Given the description of an element on the screen output the (x, y) to click on. 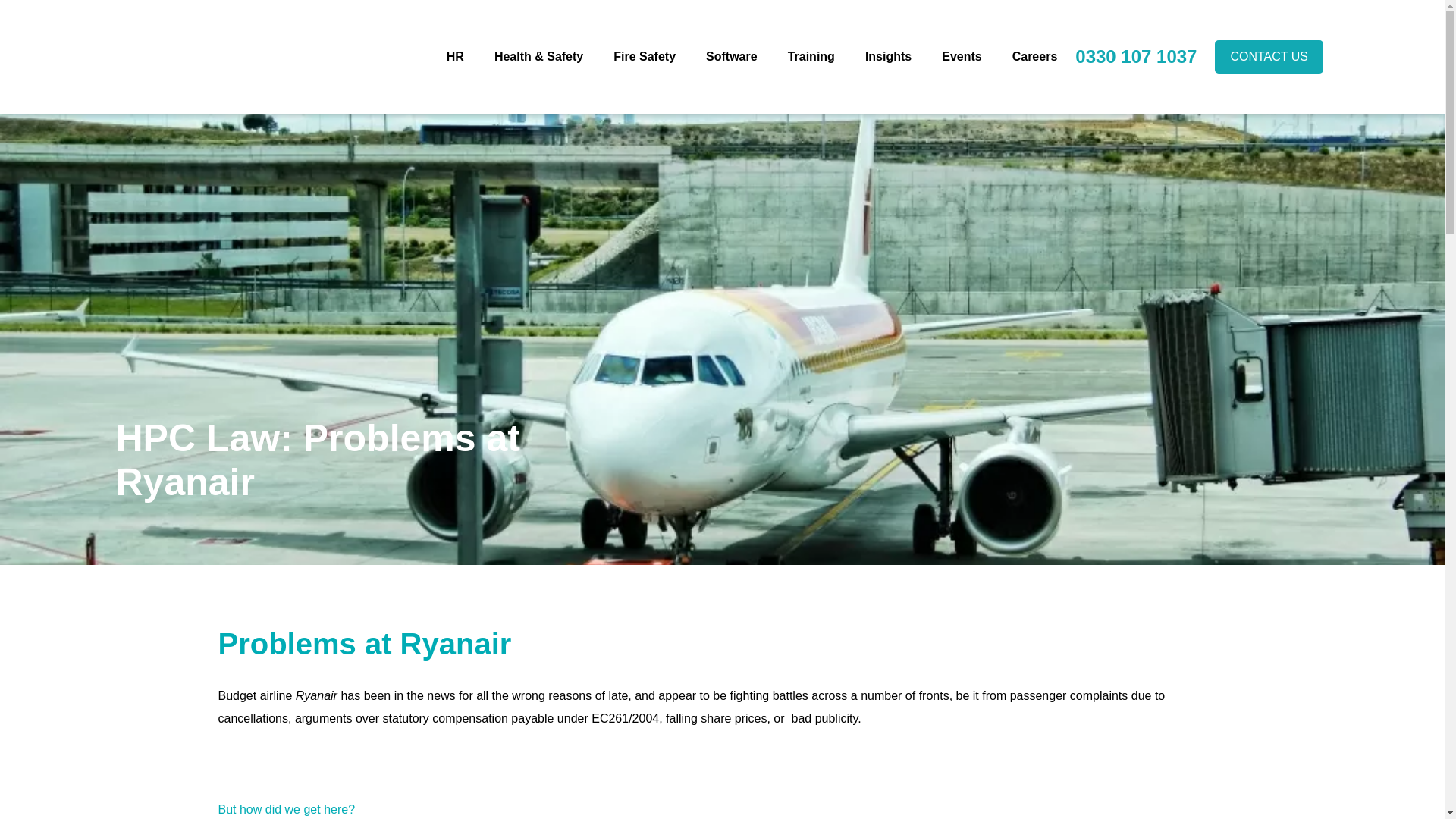
Insights (887, 56)
Careers (1034, 56)
Events (961, 56)
CONTACT US (1268, 56)
Fire Safety (643, 56)
HR (455, 56)
Software (731, 56)
0330 107 1037 (1135, 55)
Training (810, 56)
